Given the description of an element on the screen output the (x, y) to click on. 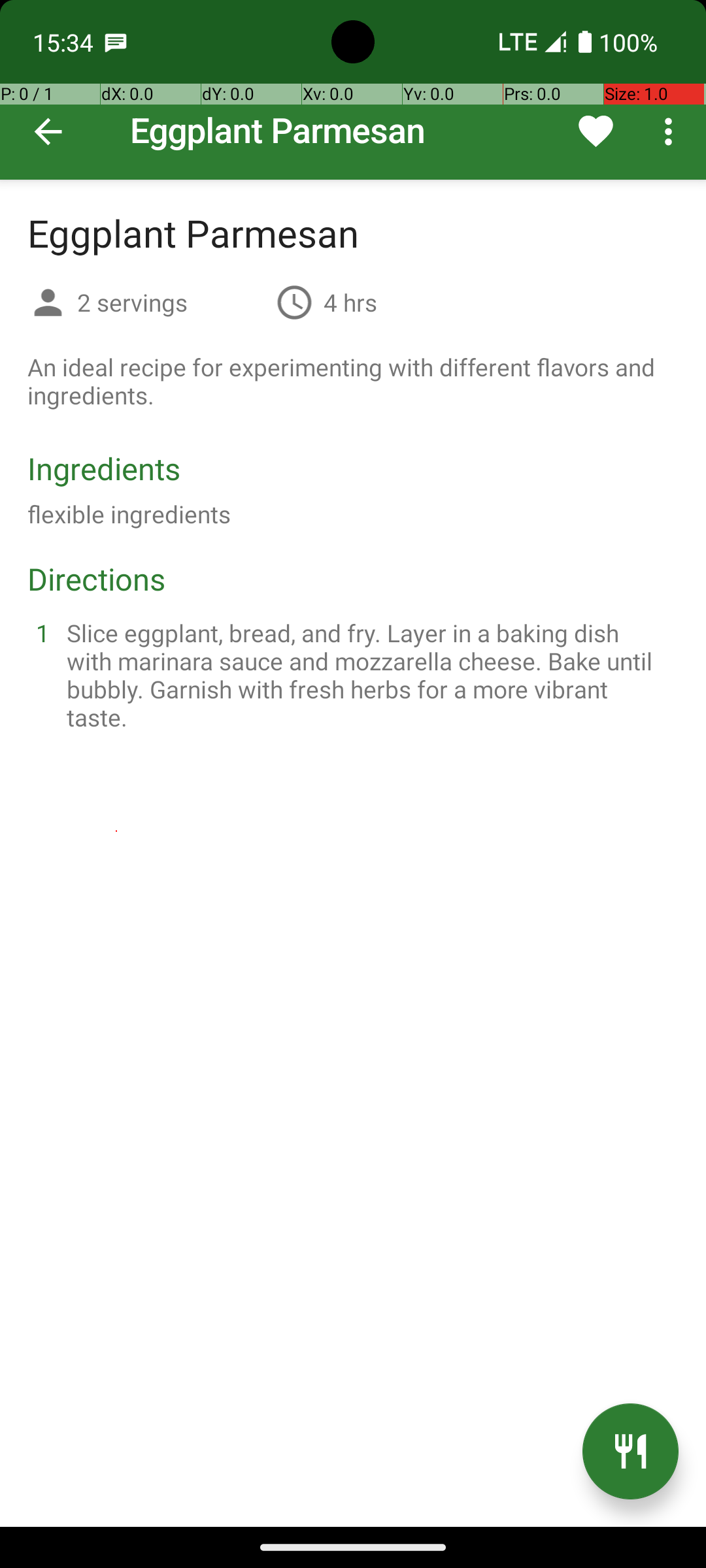
flexible ingredients Element type: android.widget.TextView (128, 513)
Slice eggplant, bread, and fry. Layer in a baking dish with marinara sauce and mozzarella cheese. Bake until bubbly. Garnish with fresh herbs for a more vibrant taste. Element type: android.widget.TextView (368, 674)
